Given the description of an element on the screen output the (x, y) to click on. 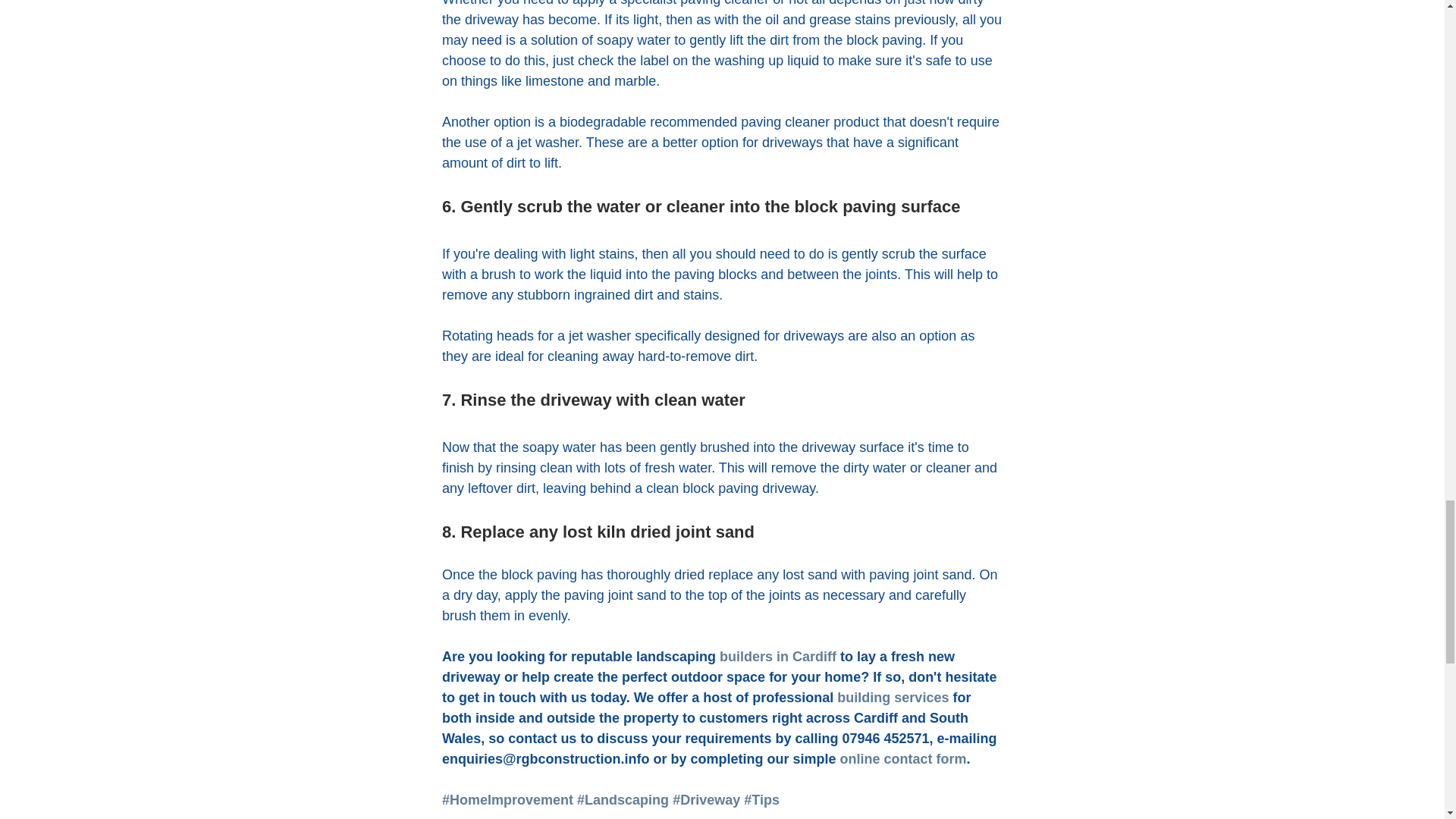
builders in Cardiff (777, 656)
online contact form (903, 758)
building services (893, 697)
